Given the description of an element on the screen output the (x, y) to click on. 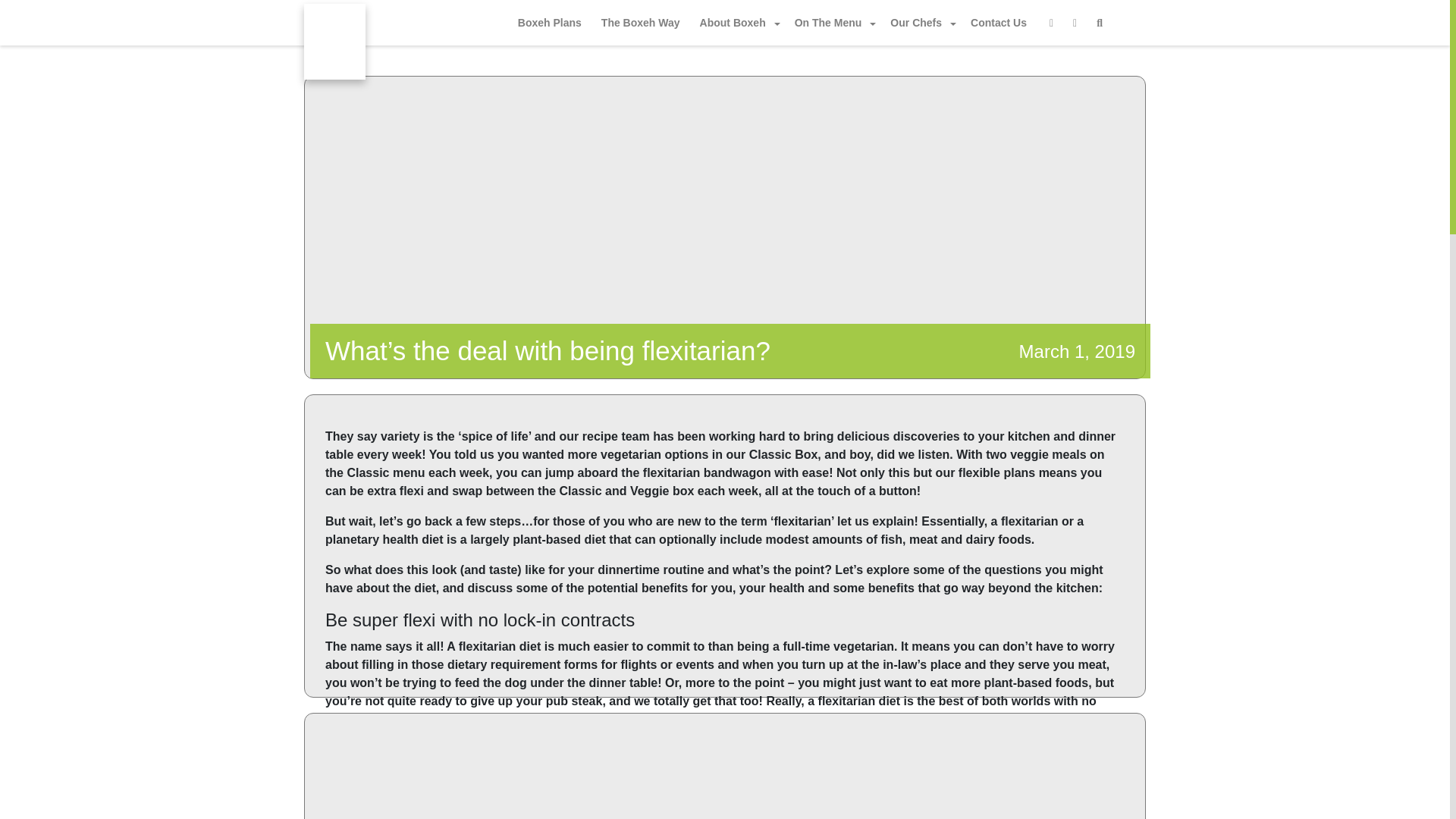
Contact Us (997, 22)
About Boxeh (737, 22)
Our Chefs (919, 22)
Contact Us (997, 22)
Search (911, 14)
Our Chefs (919, 22)
About Boxeh (737, 22)
On The Menu (833, 22)
The Boxeh Way (640, 22)
Boxeh Plans (550, 22)
